Given the description of an element on the screen output the (x, y) to click on. 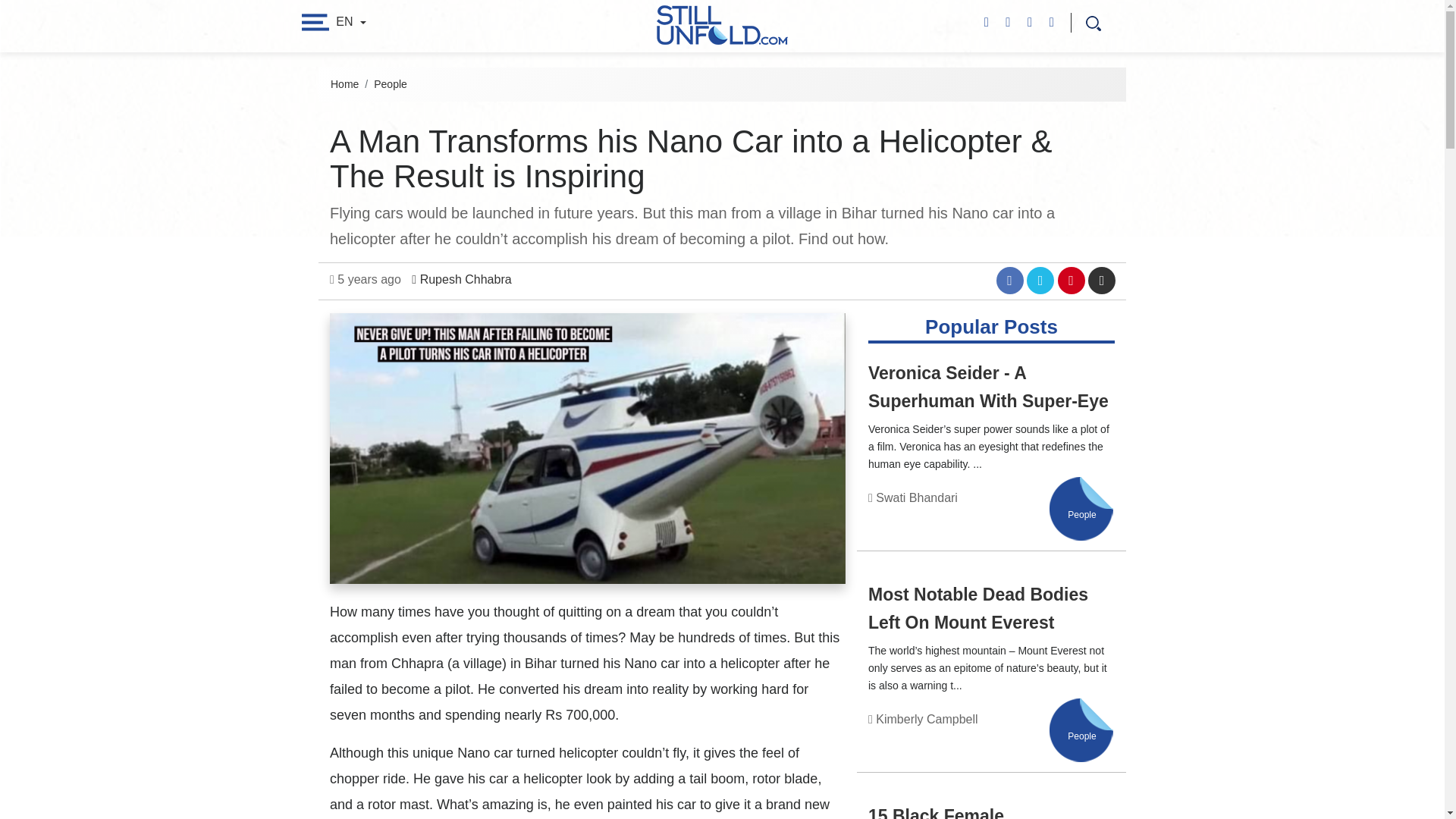
People (1081, 514)
15 Black Female Bodybuilders With Insane Physique (974, 812)
Home (344, 83)
15 Black Female Bodybuilders With Insane Physique (974, 812)
Veronica Seider - A Superhuman With Super-Eye (987, 387)
People (390, 83)
Rupesh Chhabra (461, 278)
Veronica Seider - A Superhuman With Super-Eye (987, 387)
People (1081, 736)
People (1081, 736)
